Given the description of an element on the screen output the (x, y) to click on. 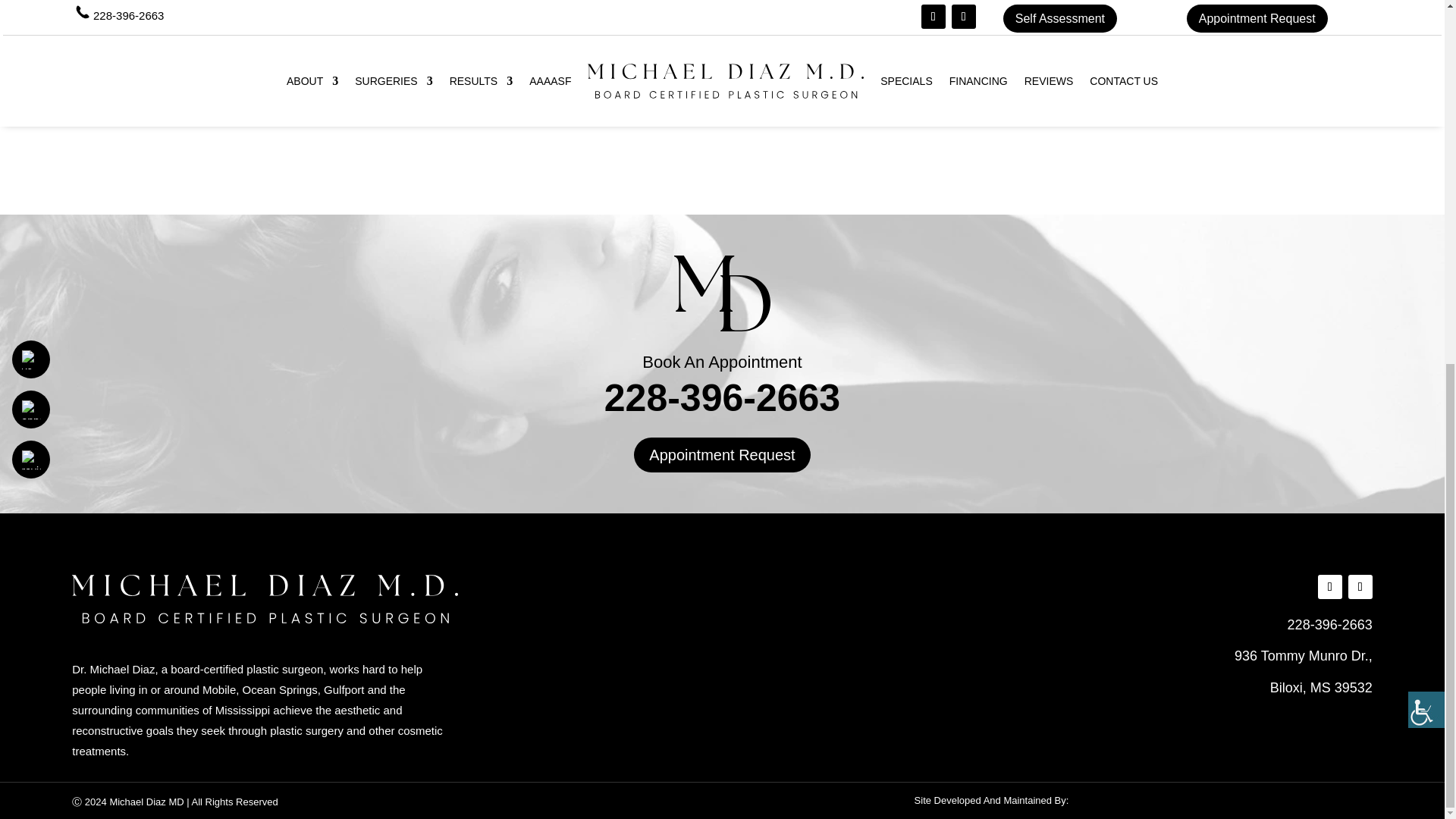
white-new-logo-michael-diaz-md (264, 598)
md-michael-diaz (722, 293)
